Given the description of an element on the screen output the (x, y) to click on. 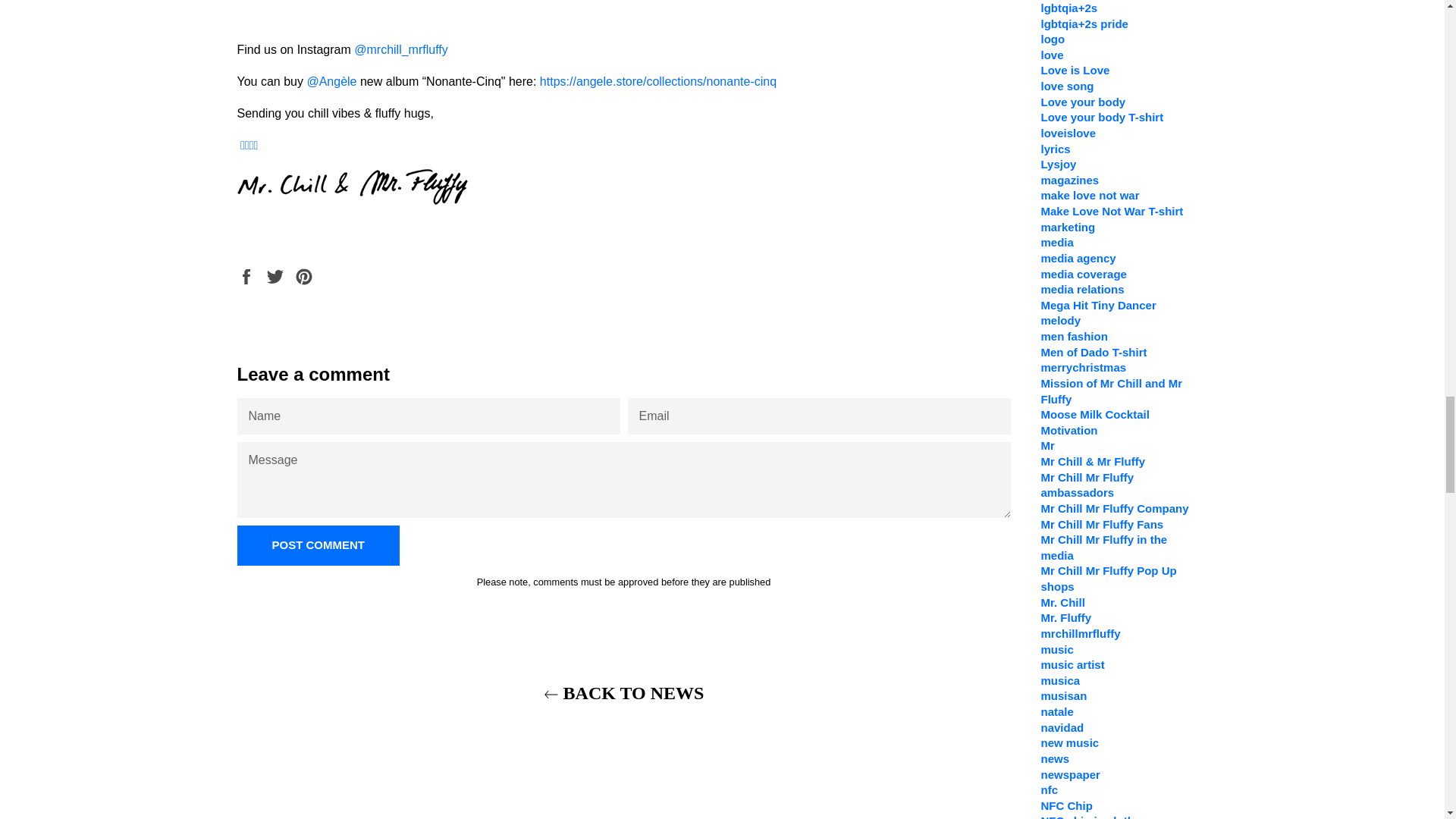
Pin on Pinterest (304, 275)
Pin on Pinterest (304, 275)
YouTube video player (622, 4)
Tweet on Twitter (276, 275)
Share on Facebook (246, 275)
Post comment (316, 545)
Mister Chill and Mister Fluffy Mission and Charity  (248, 144)
Post comment (316, 545)
Tweet on Twitter (276, 275)
Share on Facebook (246, 275)
